Given the description of an element on the screen output the (x, y) to click on. 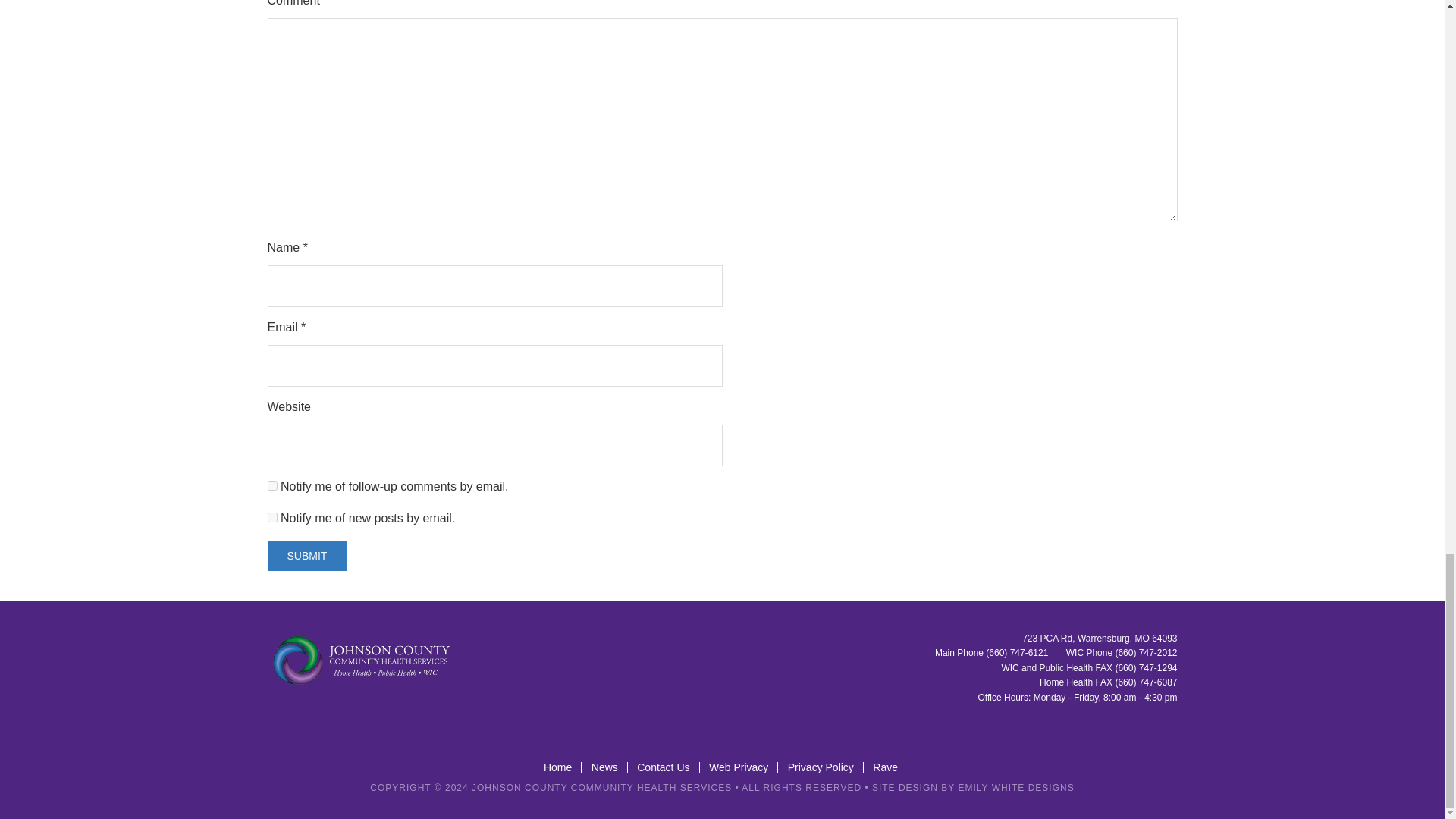
subscribe (271, 485)
subscribe (271, 517)
Submit (306, 555)
Emily White Designs (1016, 787)
